Given the description of an element on the screen output the (x, y) to click on. 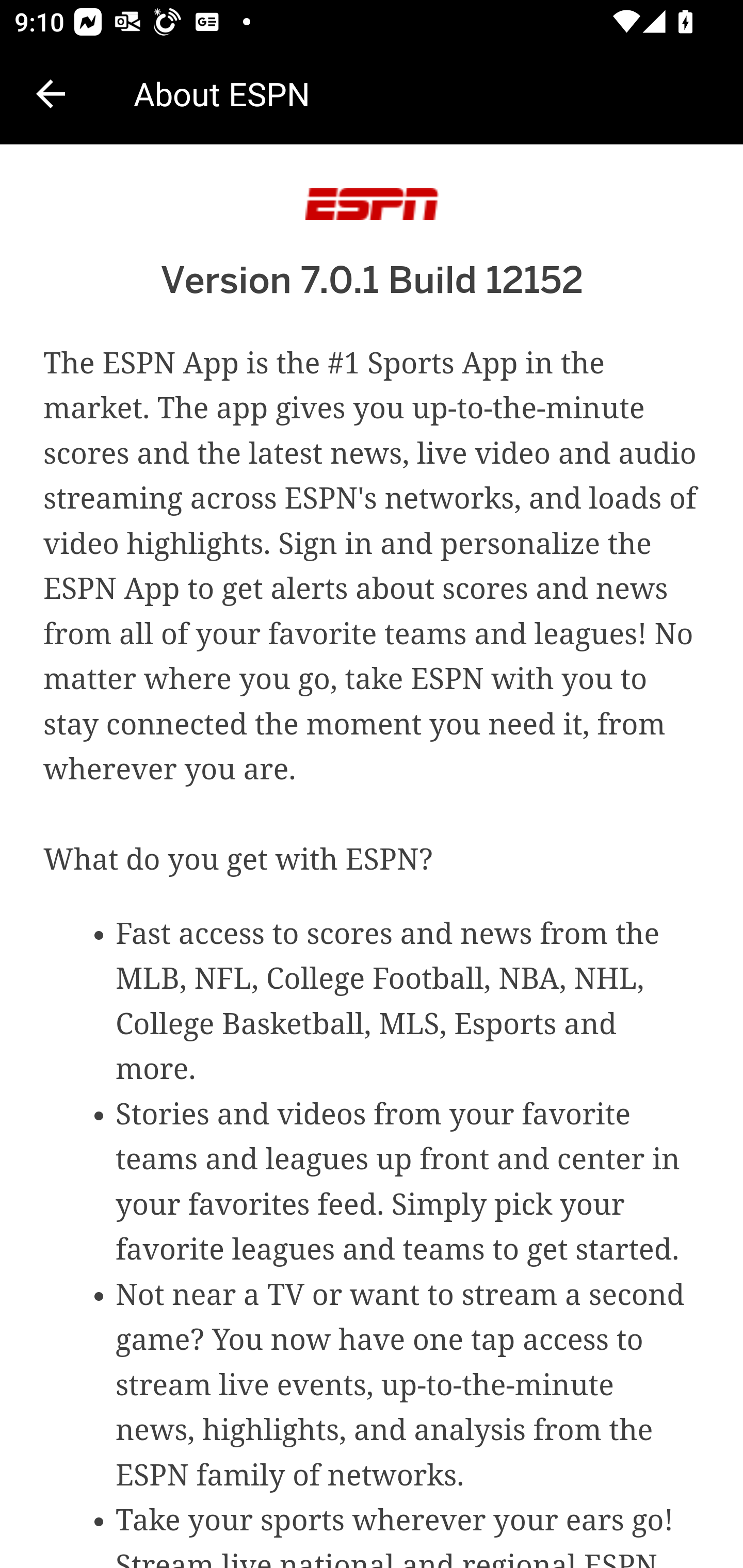
Navigate up (50, 93)
